Given the description of an element on the screen output the (x, y) to click on. 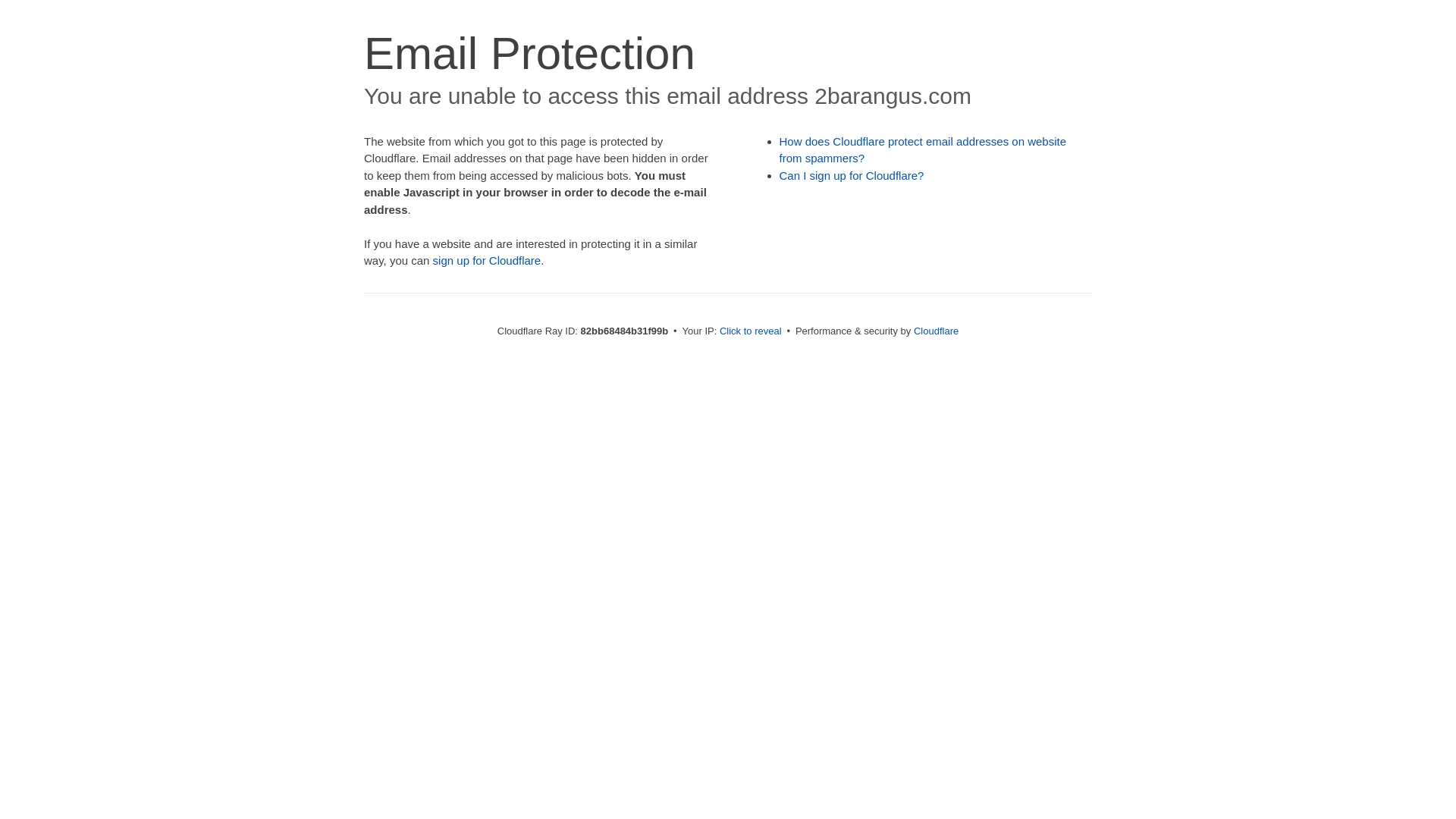
Click to reveal Element type: text (750, 330)
Can I sign up for Cloudflare? Element type: text (851, 175)
sign up for Cloudflare Element type: text (487, 260)
Cloudflare Element type: text (935, 330)
